Given the description of an element on the screen output the (x, y) to click on. 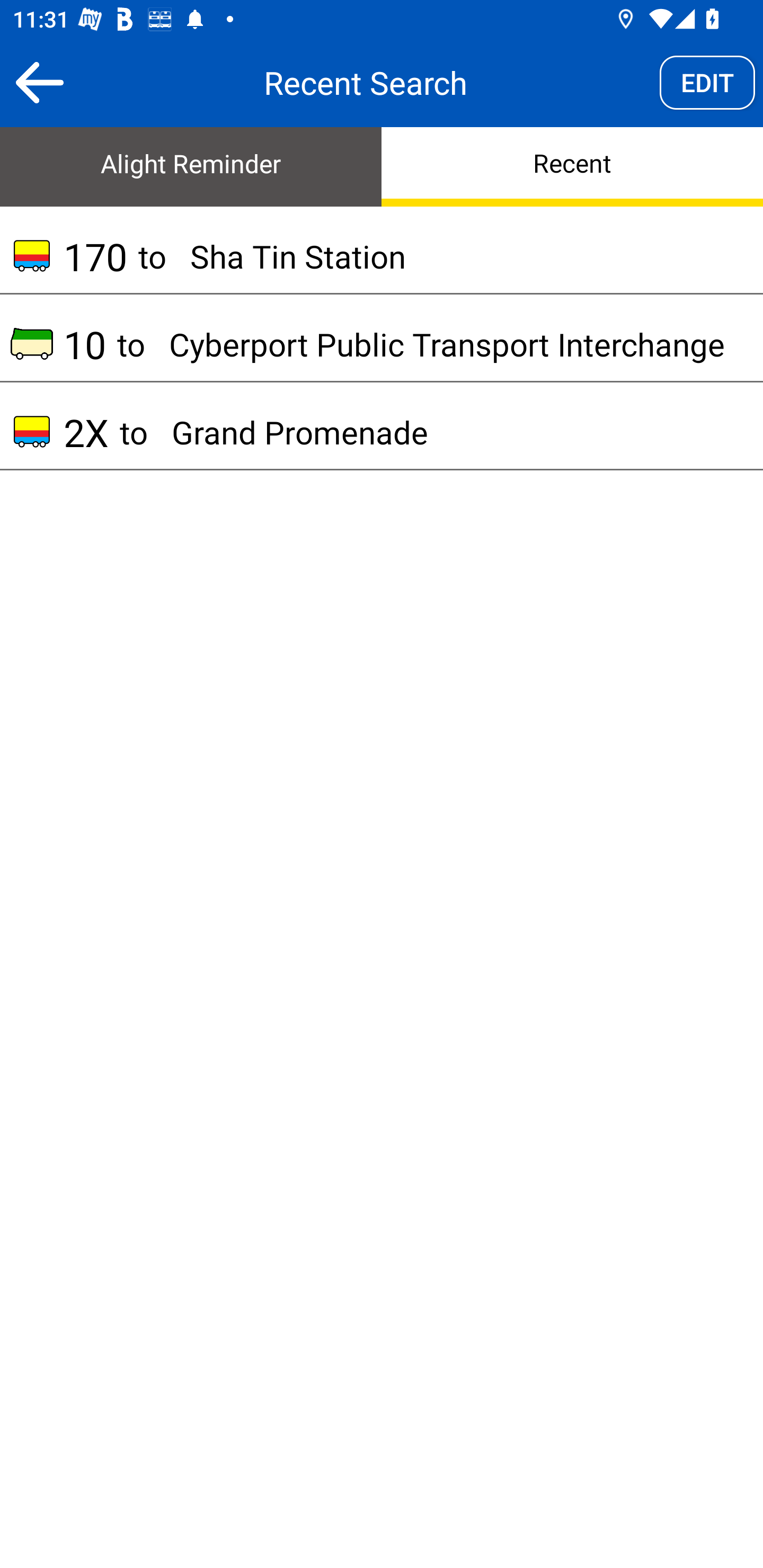
Back (39, 82)
EDIT Edit (707, 81)
Alight Reminder (190, 165)
Recent selected (572, 165)
